Given the description of an element on the screen output the (x, y) to click on. 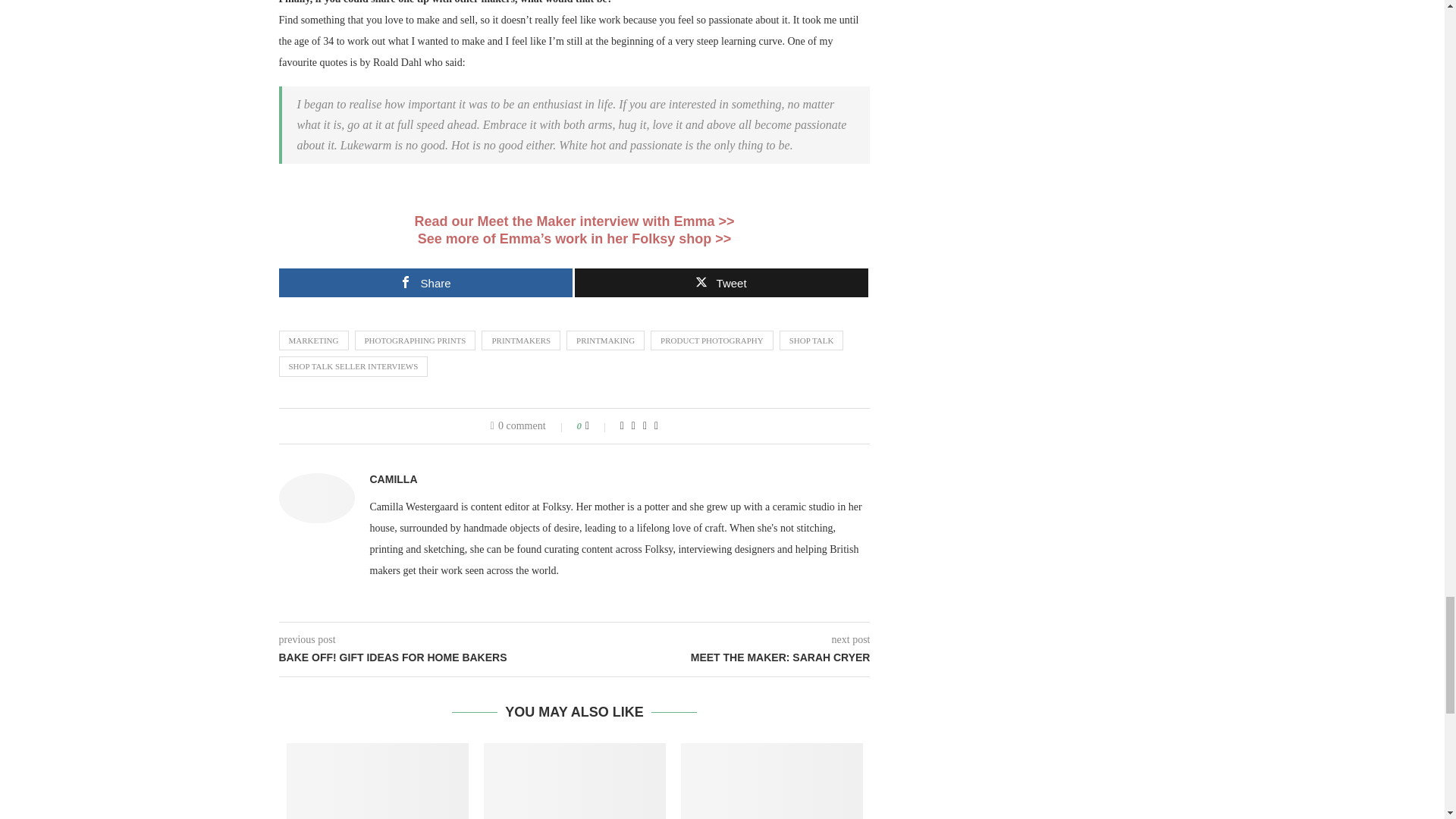
Author Camilla (393, 479)
Shop Talk with Hook and Loop Knits (772, 780)
Shop Talk with textile artist Emma Louise Corry (377, 780)
Meet the Maker: Emma Higgins (573, 221)
Like (597, 426)
